Given the description of an element on the screen output the (x, y) to click on. 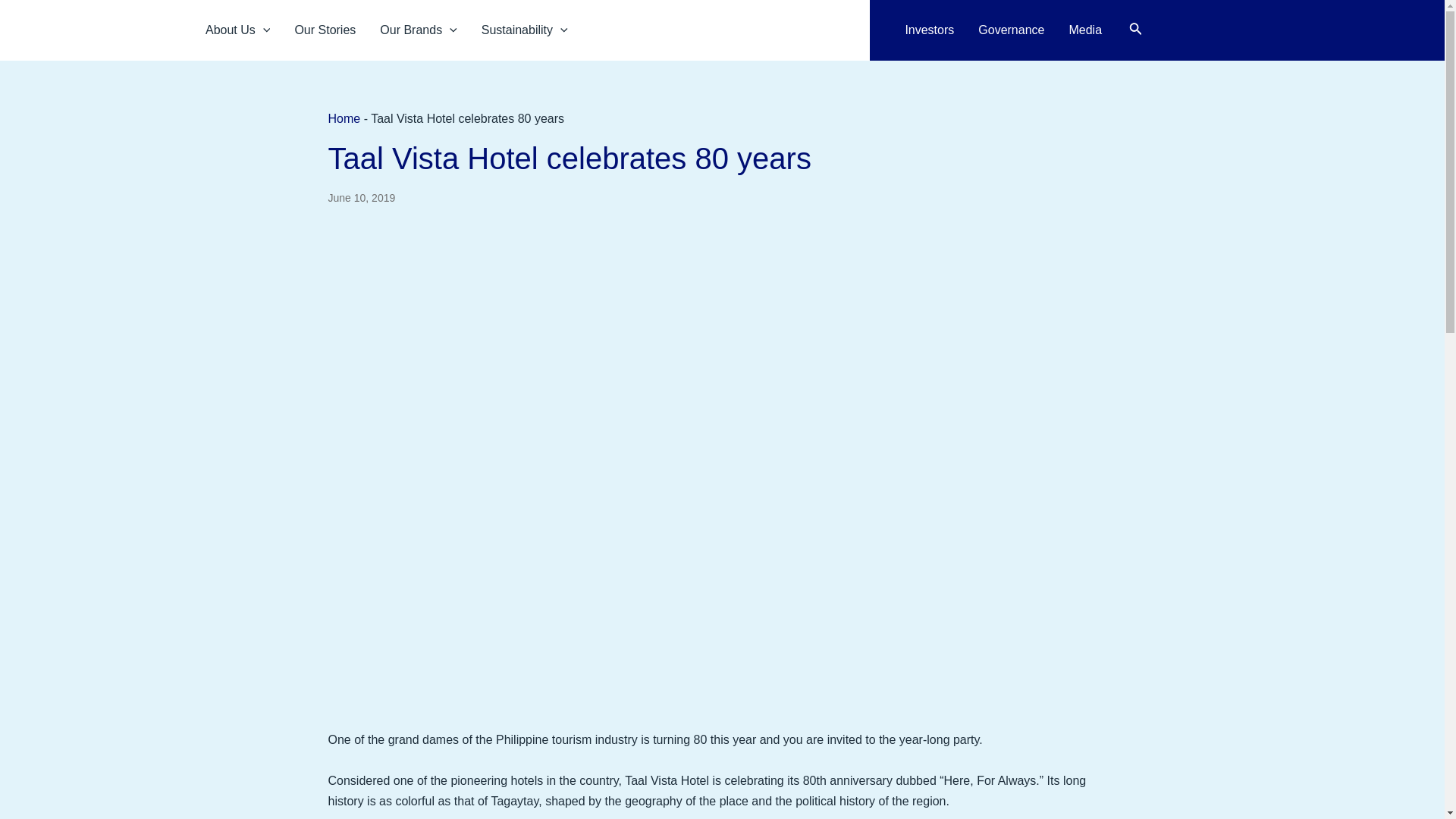
Our Brands (418, 30)
Sustainability (523, 30)
About Us (237, 30)
Investors (929, 30)
Media (1085, 30)
Governance (1011, 30)
Our Stories (325, 30)
